Given the description of an element on the screen output the (x, y) to click on. 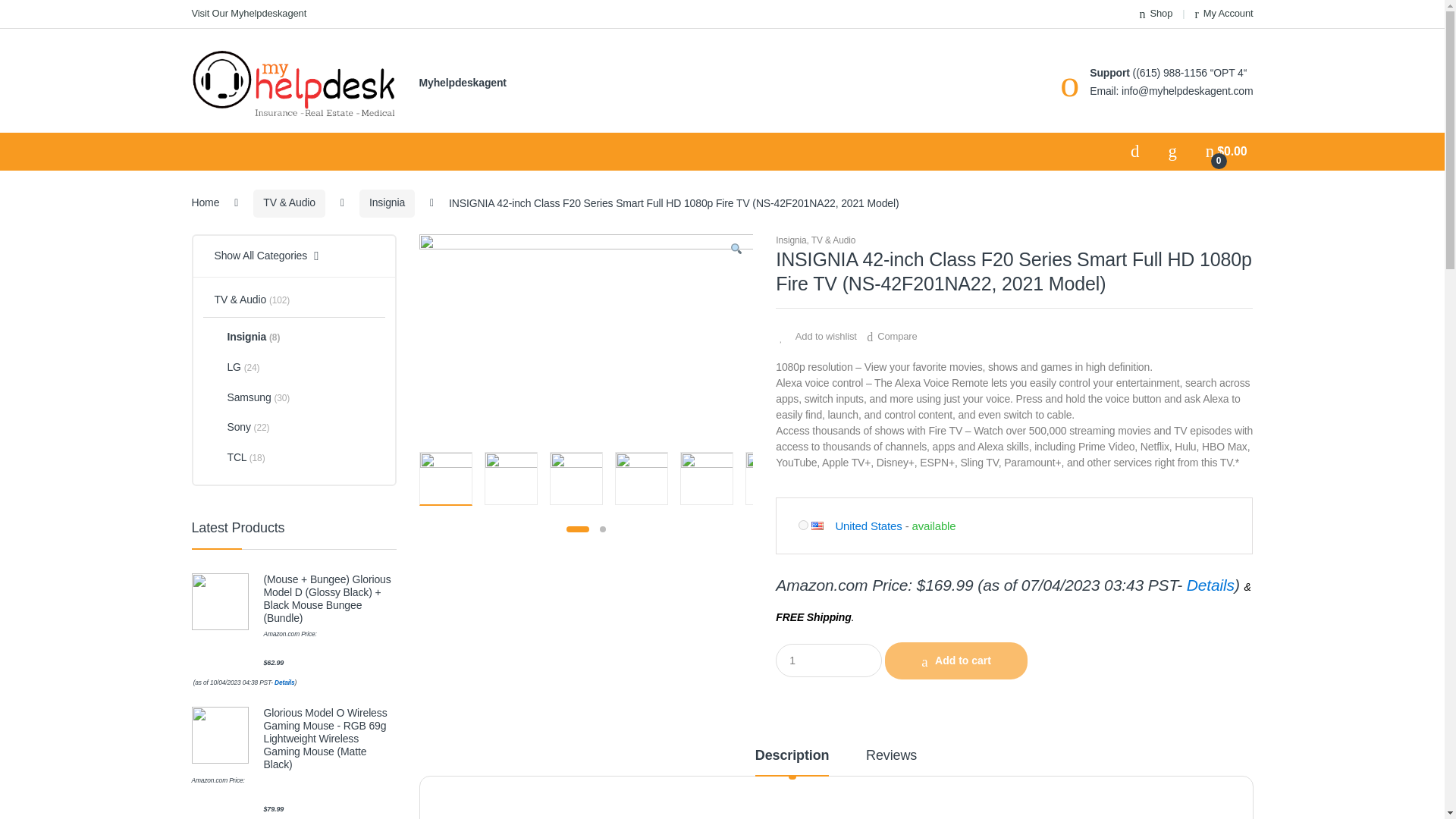
My Account (1224, 13)
on (802, 524)
Myhelpdeskagent (462, 83)
Myhelpdeskagent (462, 83)
My Account (1224, 13)
Visit Our Myhelpdeskagent (247, 13)
Shop (1156, 13)
1 (829, 660)
Shop (1156, 13)
Visit Our Myhelpdeskagent (247, 13)
